Given the description of an element on the screen output the (x, y) to click on. 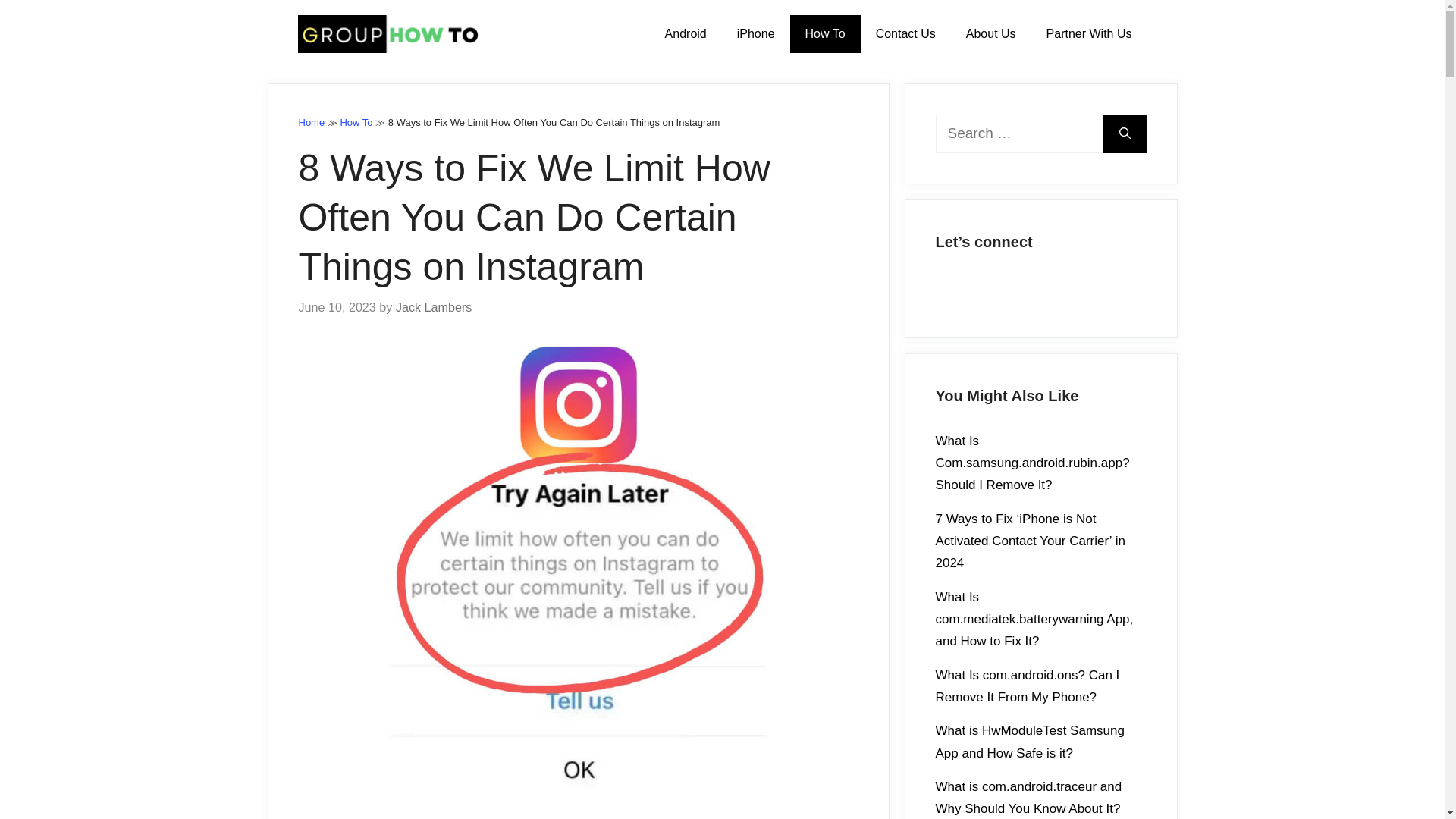
Partner With Us (1088, 34)
About Us (990, 34)
How To (825, 34)
iPhone (756, 34)
How To (355, 122)
Contact Us (905, 34)
Jack Lambers (433, 306)
View all posts by Jack Lambers (433, 306)
Search for: (1019, 133)
Android (685, 34)
